Given the description of an element on the screen output the (x, y) to click on. 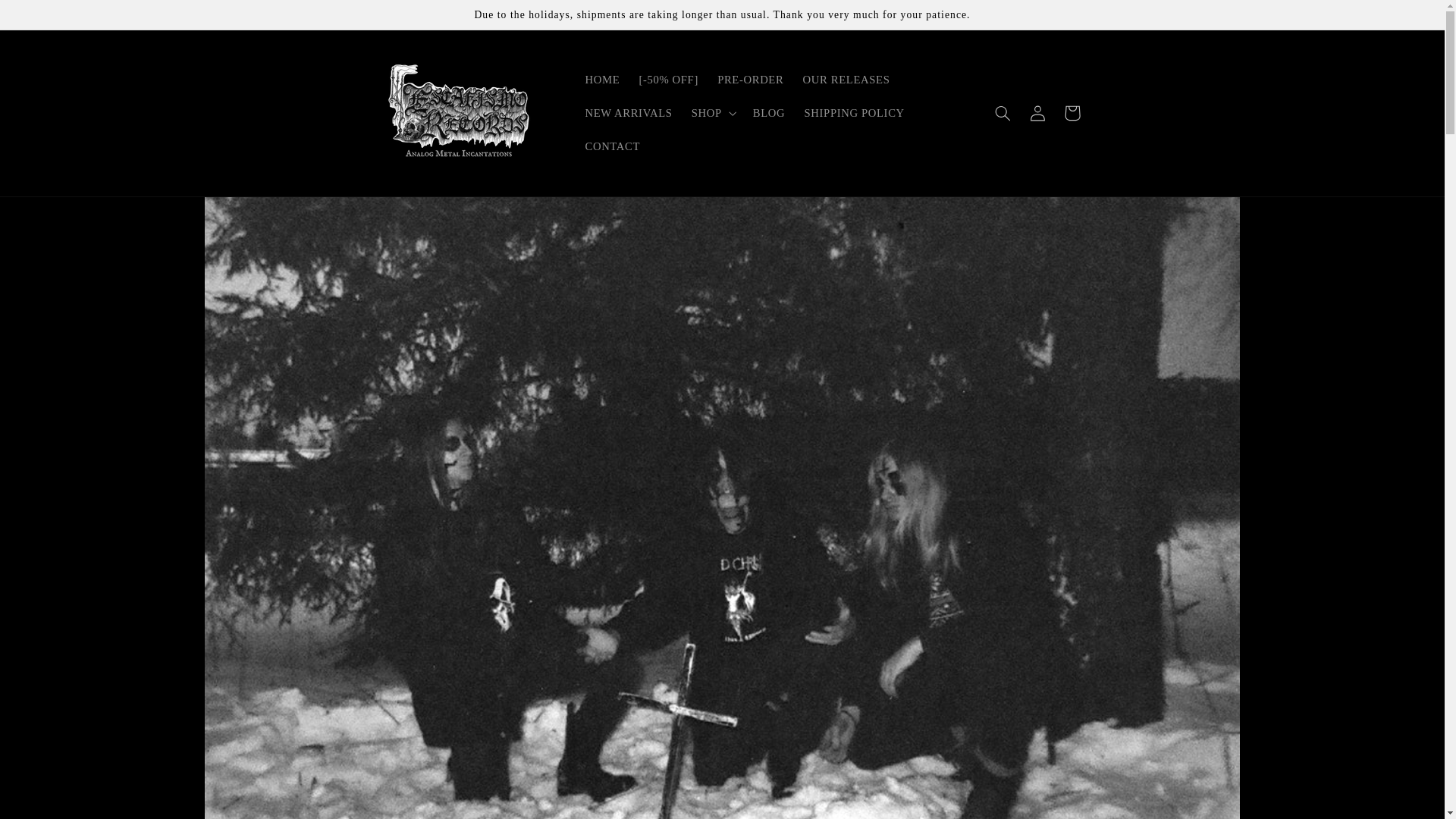
HOME (601, 79)
NEW ARRIVALS (628, 112)
OUR RELEASES (846, 79)
Skip to content (48, 18)
PRE-ORDER (750, 79)
BLOG (768, 112)
